Given the description of an element on the screen output the (x, y) to click on. 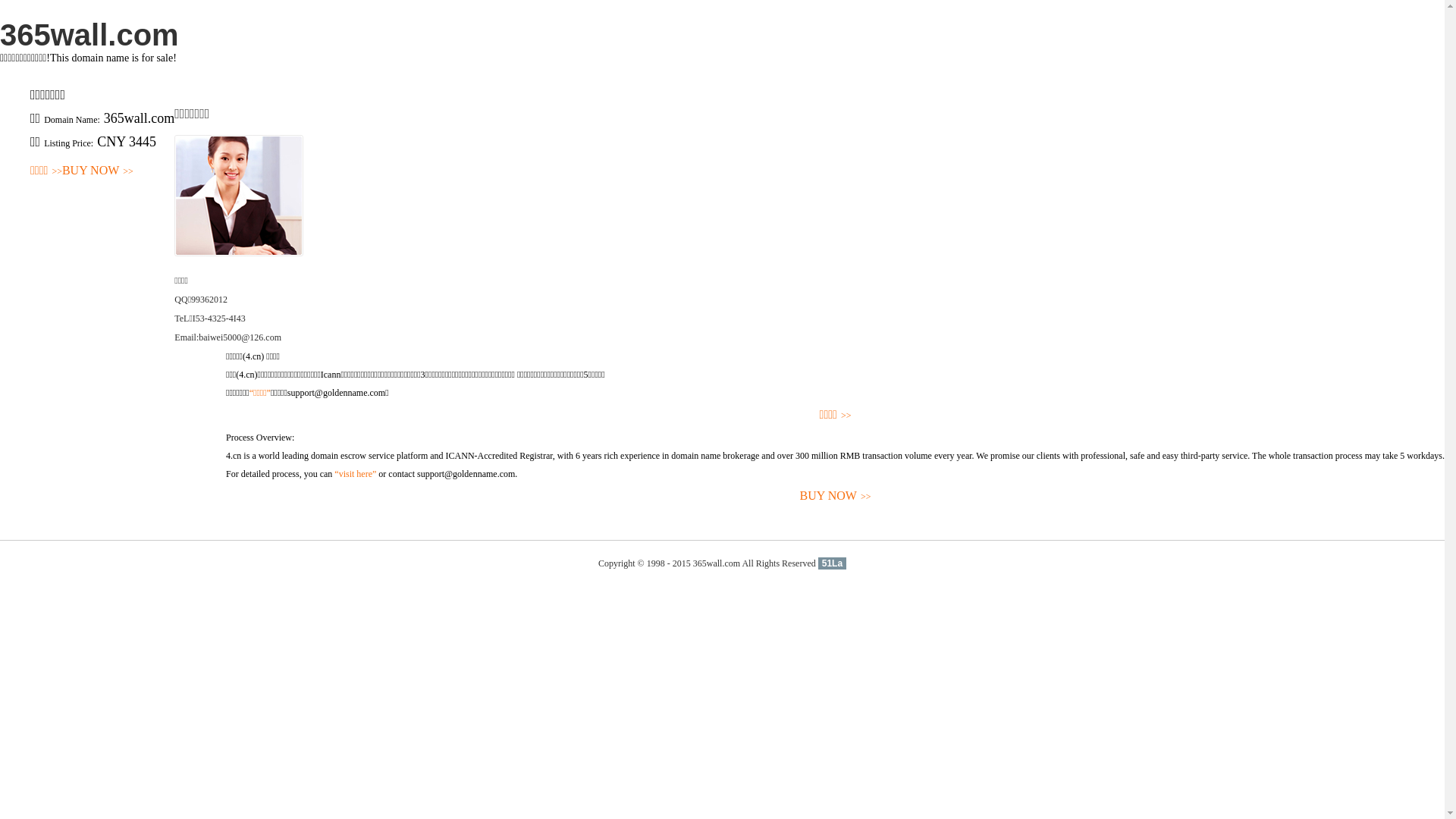
51La Element type: text (832, 563)
BUY NOW>> Element type: text (834, 496)
BUY NOW>> Element type: text (97, 170)
